Given the description of an element on the screen output the (x, y) to click on. 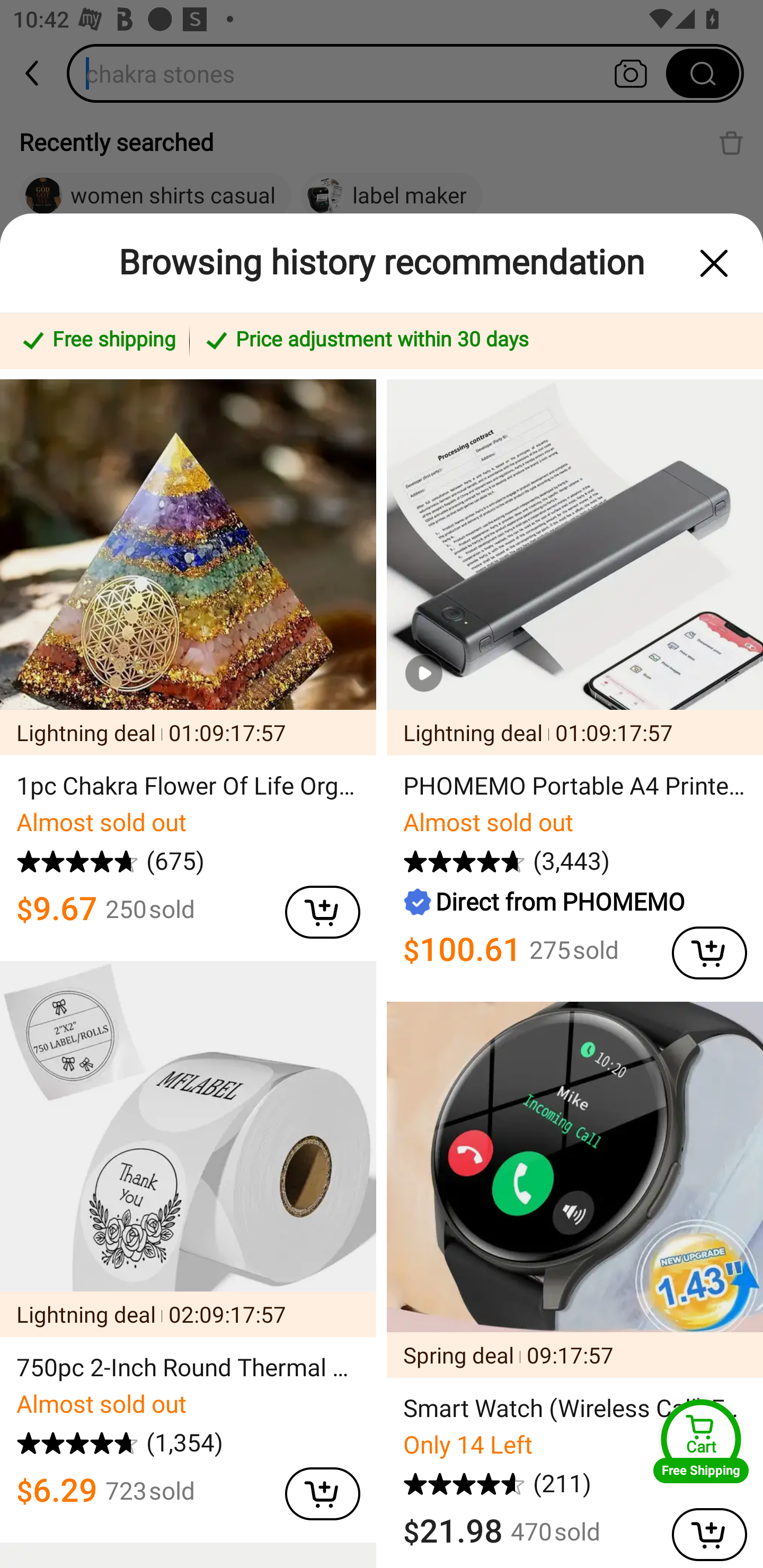
 (714, 263)
Free shipping (97, 340)
Price adjustment within 30 days (472, 340)
 (314, 907)
 (700, 948)
Cart Free Shipping Cart (701, 1440)
 (314, 1489)
 (700, 1529)
